Given the description of an element on the screen output the (x, y) to click on. 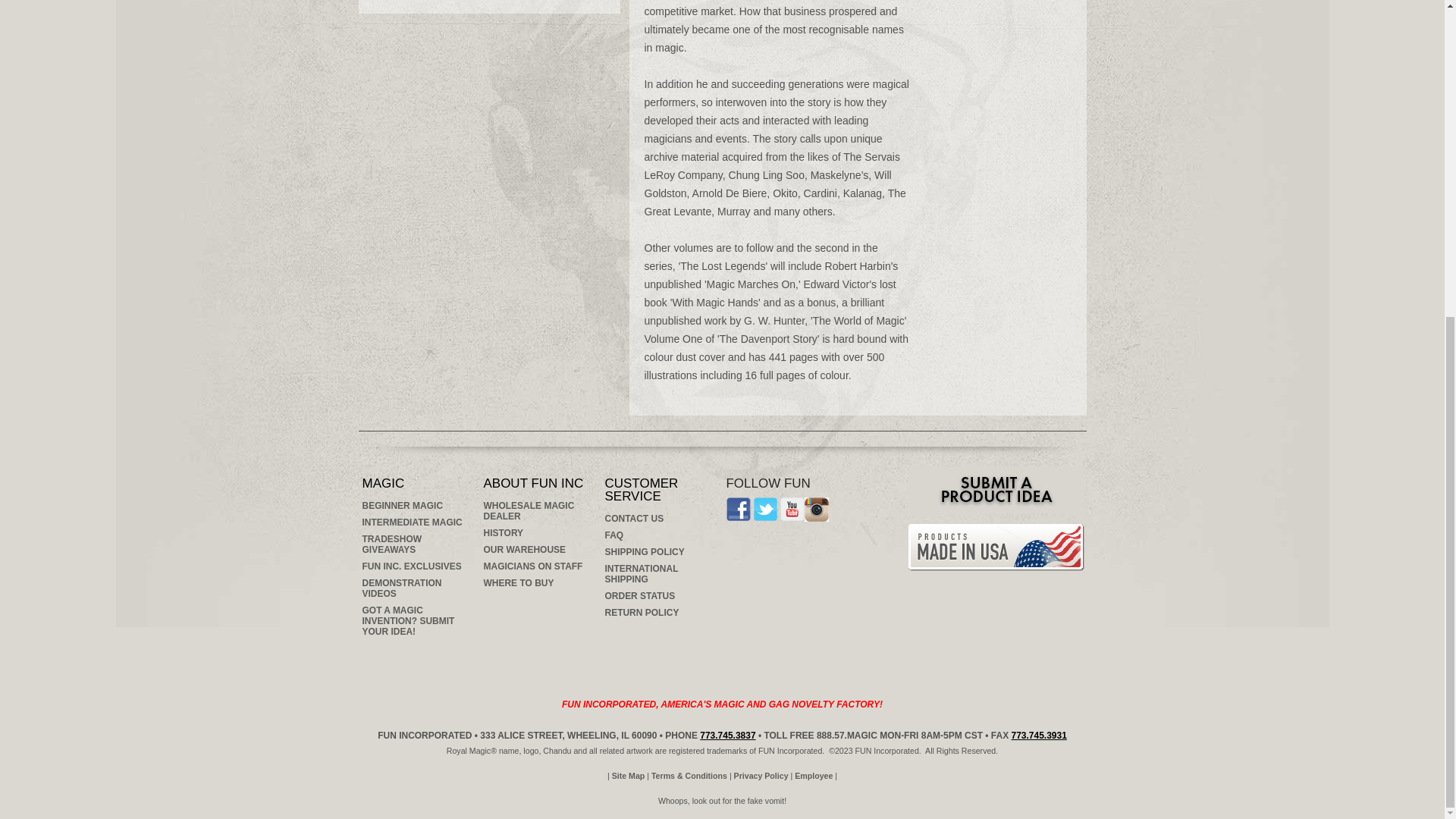
Follow us on Twitter (764, 509)
Like us on Facebook (738, 509)
Subscribe to us on YouTube (792, 509)
